Given the description of an element on the screen output the (x, y) to click on. 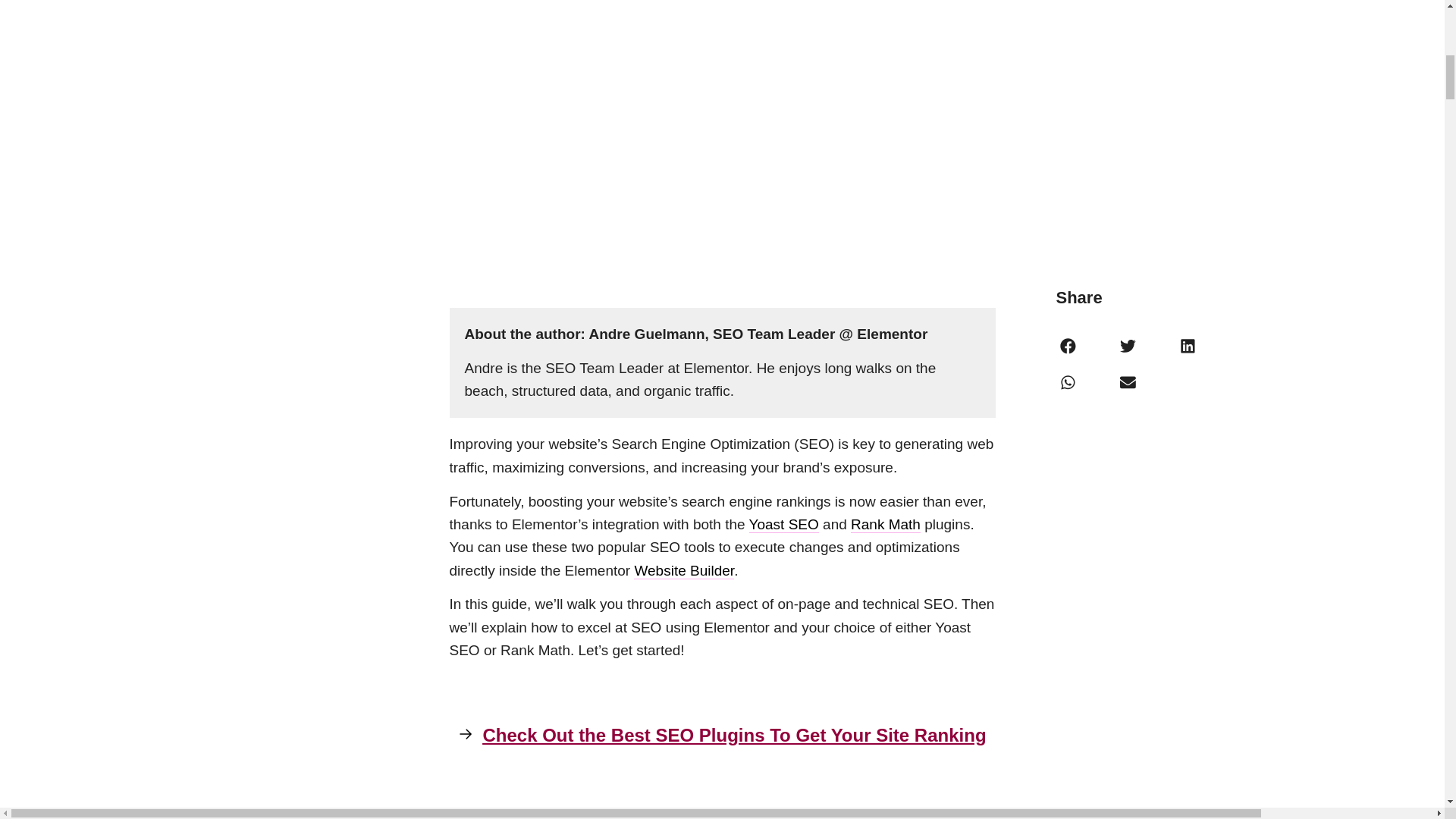
Website Builder (683, 570)
